Given the description of an element on the screen output the (x, y) to click on. 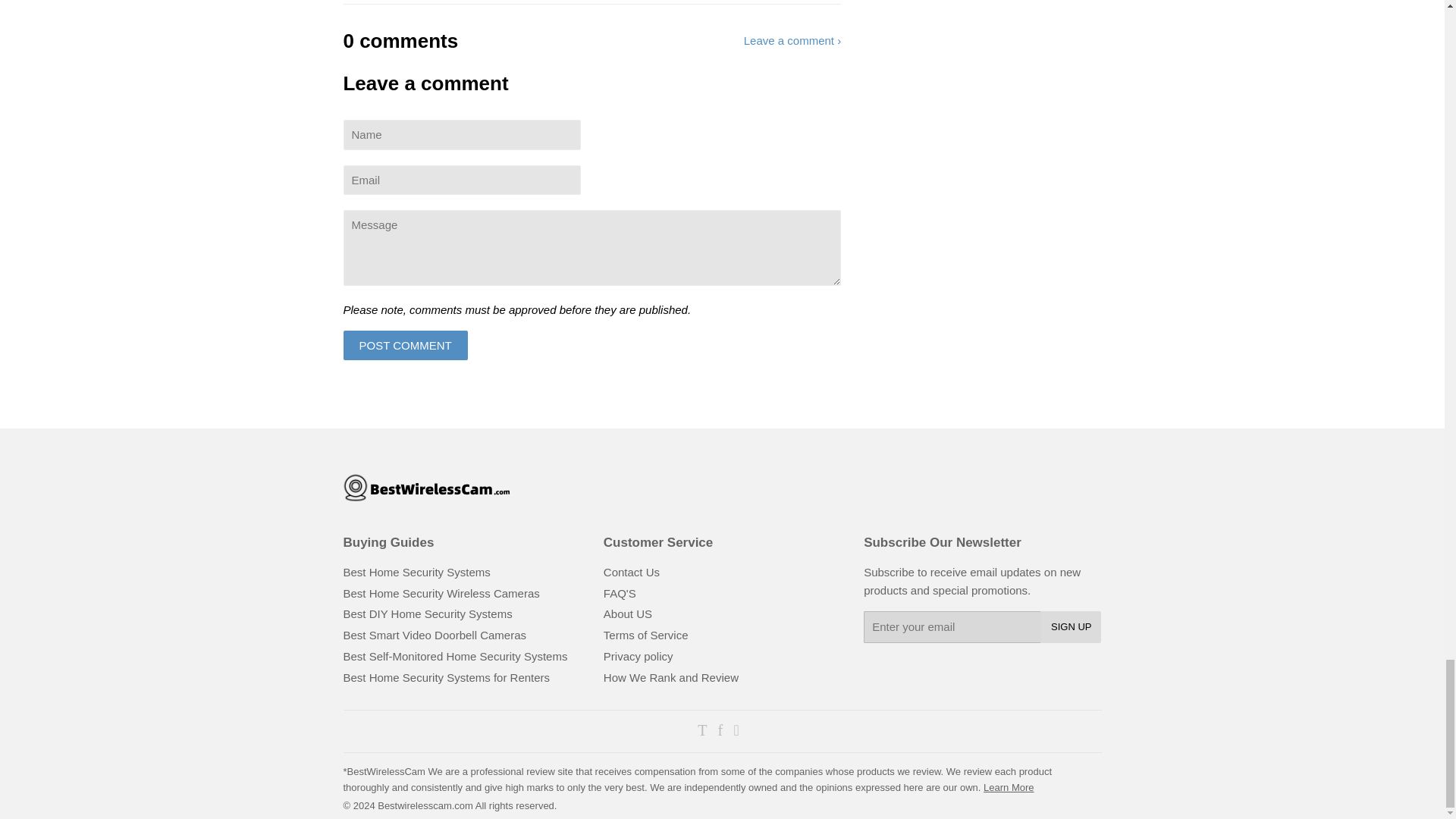
bestwirelesscam on Facebook (720, 730)
Post comment (404, 345)
bestwirelesscam on Twitter (701, 730)
bestwirelesscam on Instagram (735, 730)
